Given the description of an element on the screen output the (x, y) to click on. 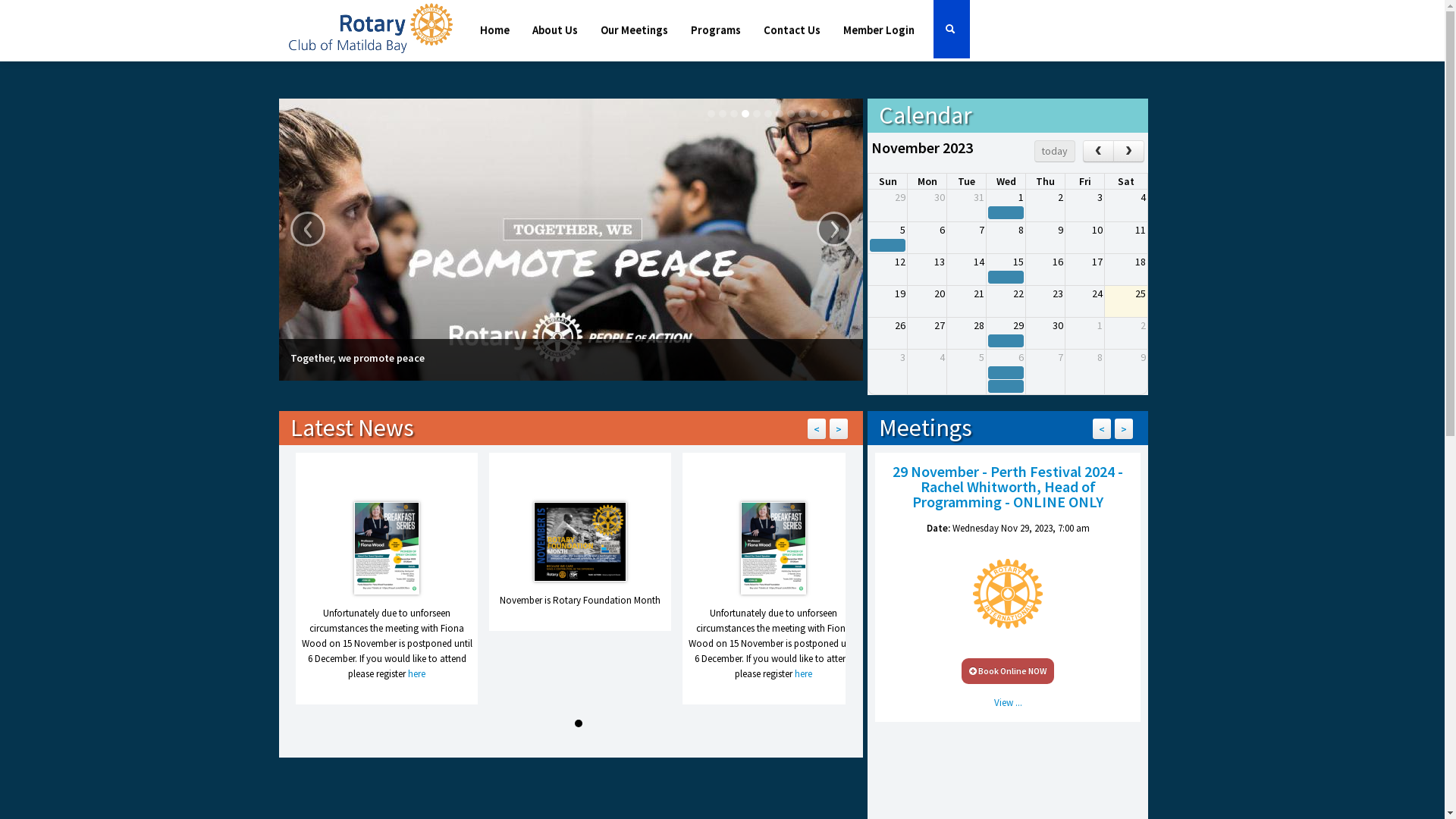
> Element type: text (1123, 428)
1 Element type: text (578, 723)
here Element type: text (416, 673)
Our Meetings Element type: text (633, 30)
< Element type: text (815, 428)
Home Element type: text (494, 30)
< Element type: text (1101, 428)
View ... Element type: text (1008, 702)
Contact Us Element type: text (791, 30)
Rotary Theme for November Element type: hover (579, 544)
About Us Element type: text (554, 30)
Latest News Element type: text (351, 428)
Meeting with Professor Fiona Wood postponed Element type: hover (386, 550)
Meeting with Professor Fiona Wood postponed Element type: hover (773, 550)
Member Login Element type: text (878, 30)
Programs Element type: text (715, 30)
Calendar Element type: text (925, 115)
Meetings Element type: text (925, 428)
here Element type: text (803, 673)
> Element type: text (838, 428)
Book Online NOW Element type: text (1007, 670)
